Given the description of an element on the screen output the (x, y) to click on. 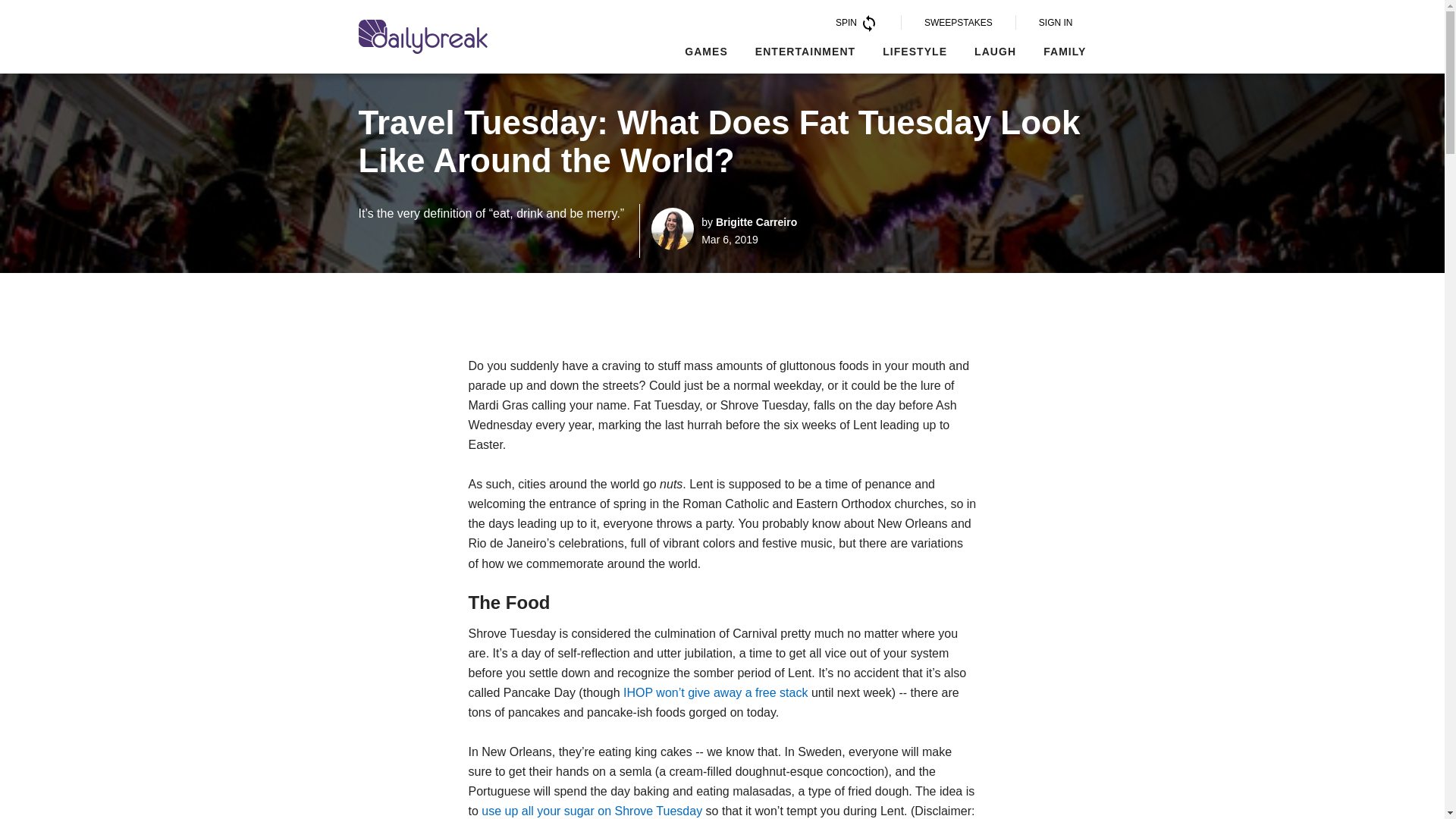
Entertainment (805, 51)
Dailybreak (422, 36)
LIFESTYLE (914, 51)
Family (1064, 51)
FAMILY (1064, 51)
Lifestyle (914, 51)
use up all your sugar on Shrove Tuesday (591, 810)
GAMES (706, 51)
LAUGH (995, 51)
SWEEPSTAKES (958, 22)
Laugh (995, 51)
Games (706, 51)
ENTERTAINMENT (805, 51)
